Given the description of an element on the screen output the (x, y) to click on. 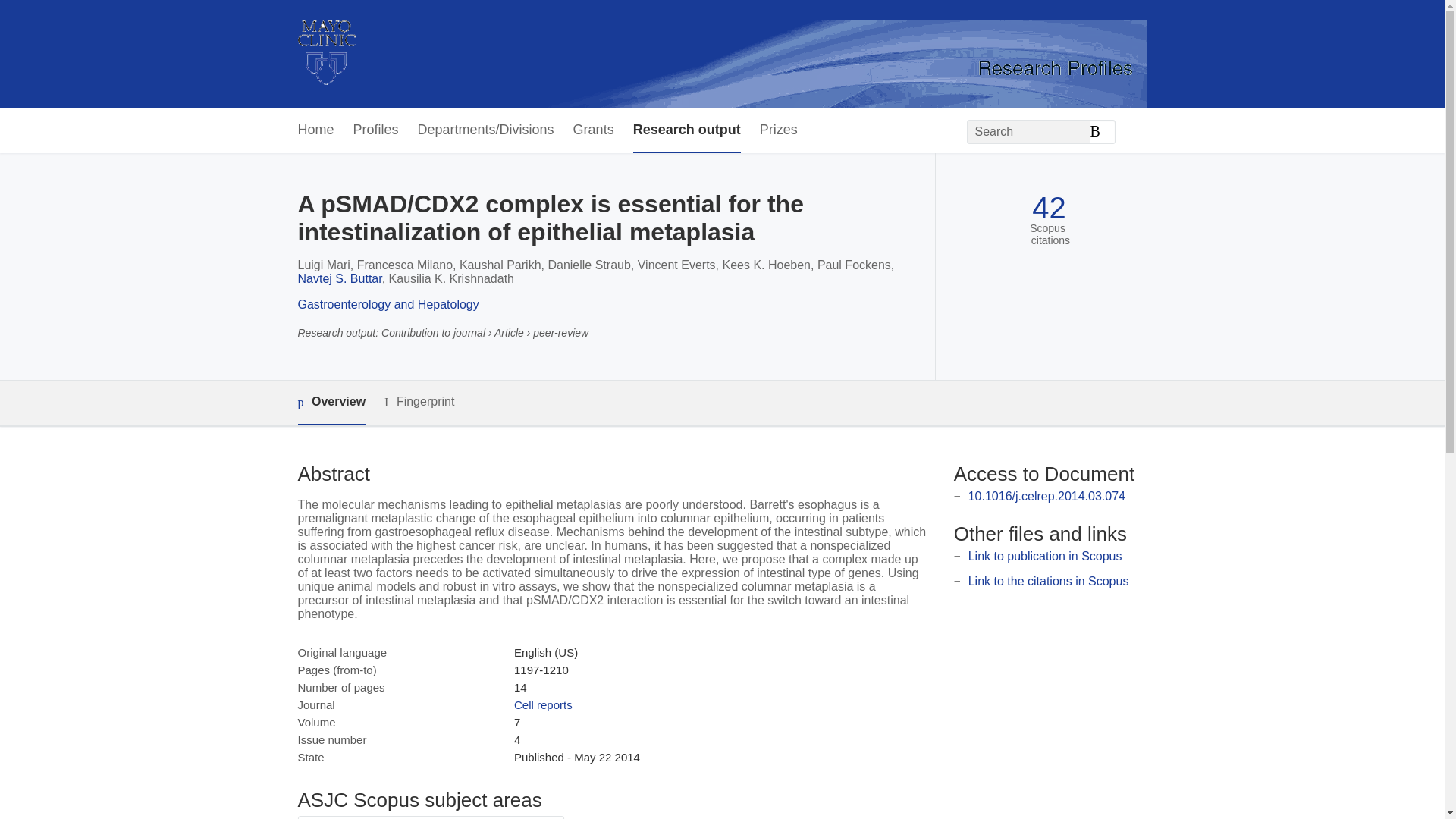
Link to publication in Scopus (1045, 555)
Research output (687, 130)
Navtej S. Buttar (339, 278)
Fingerprint (419, 402)
Link to the citations in Scopus (1048, 581)
Cell reports (542, 704)
42 (1048, 207)
Profiles (375, 130)
Grants (593, 130)
